Given the description of an element on the screen output the (x, y) to click on. 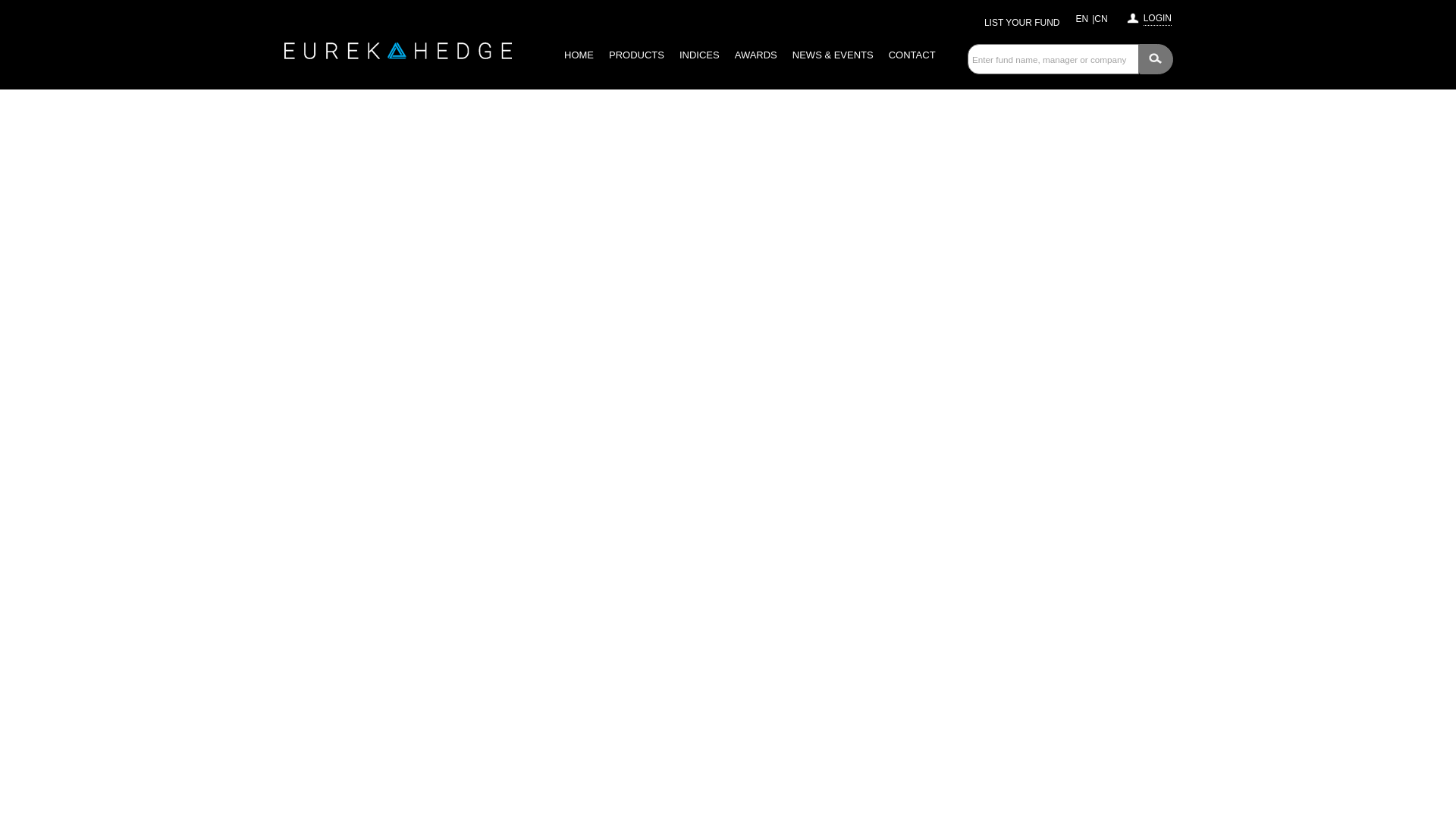
INDICES (698, 55)
HOME (578, 55)
PRODUCTS (636, 55)
LIST YOUR FUND (1021, 22)
LOGIN (1157, 16)
EN (1082, 18)
CN (1100, 18)
